Given the description of an element on the screen output the (x, y) to click on. 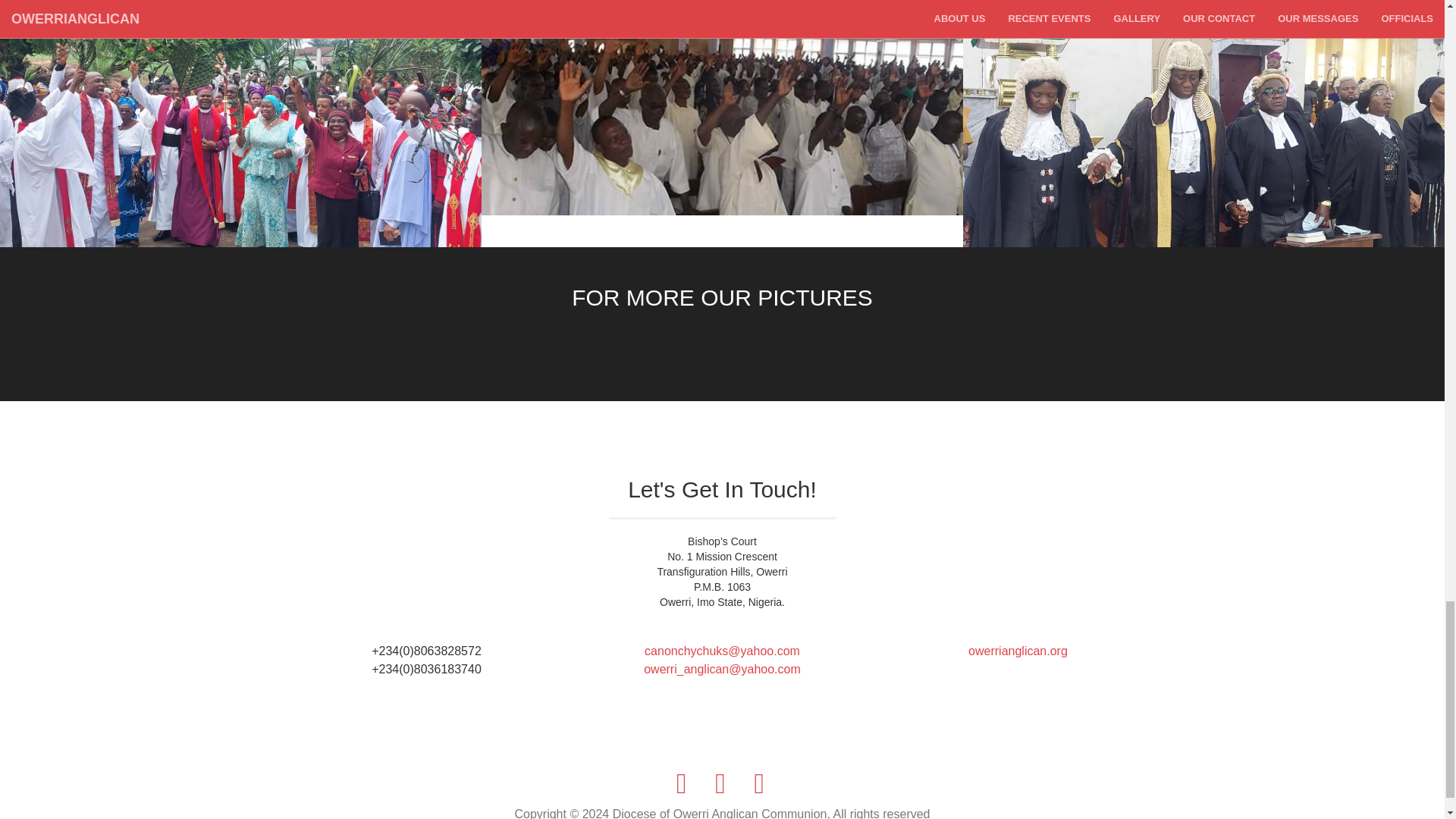
owerrianglican.org (1017, 650)
